Given the description of an element on the screen output the (x, y) to click on. 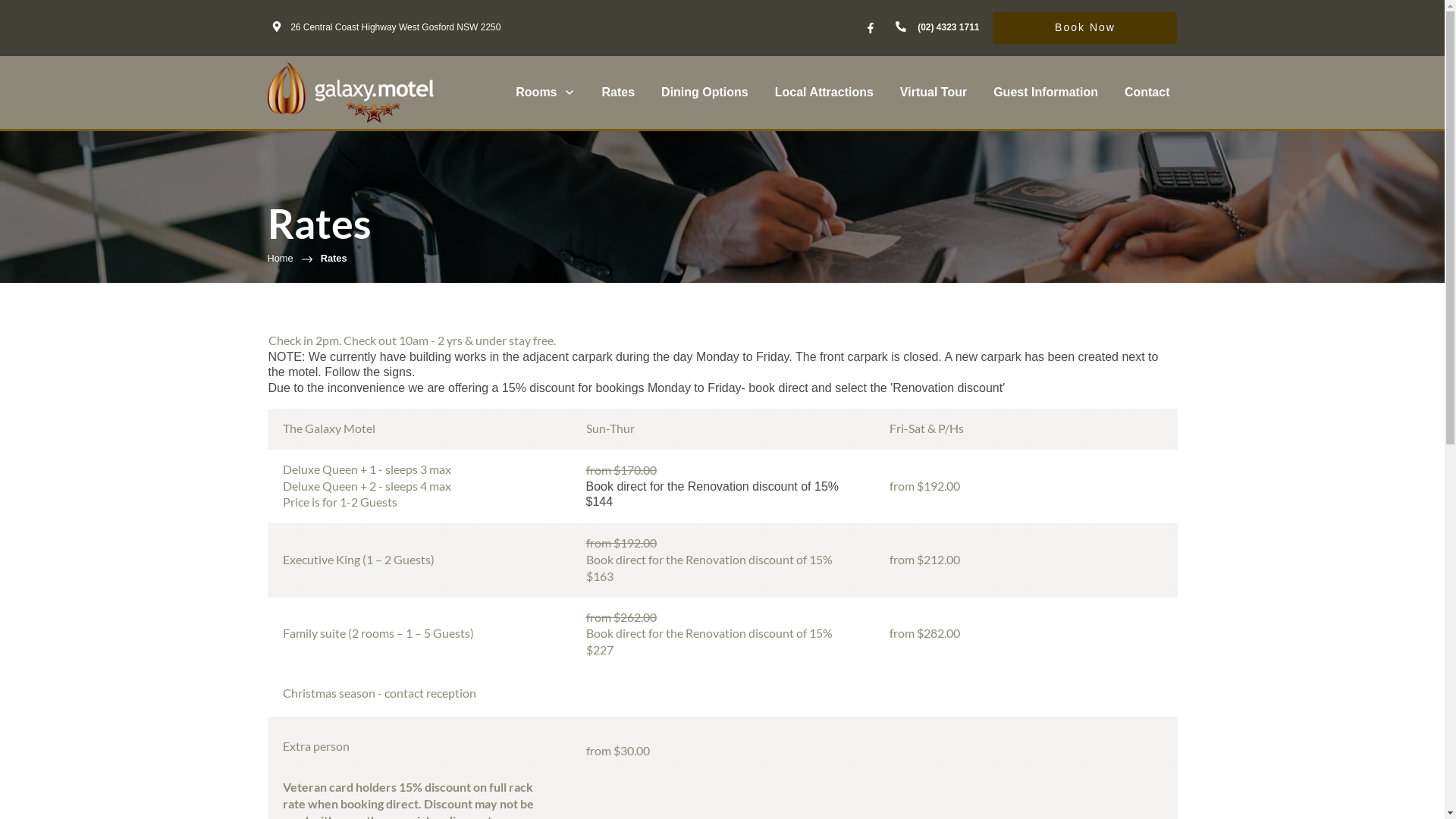
Rates Element type: text (618, 92)
Guest Information Element type: text (1045, 92)
Contact Element type: text (1147, 92)
Virtual Tour Element type: text (933, 92)
Rooms Element type: text (544, 92)
Local Attractions Element type: text (824, 92)
Home Element type: text (279, 258)
Book Now Element type: text (1084, 27)
Dining Options Element type: text (704, 92)
